Given the description of an element on the screen output the (x, y) to click on. 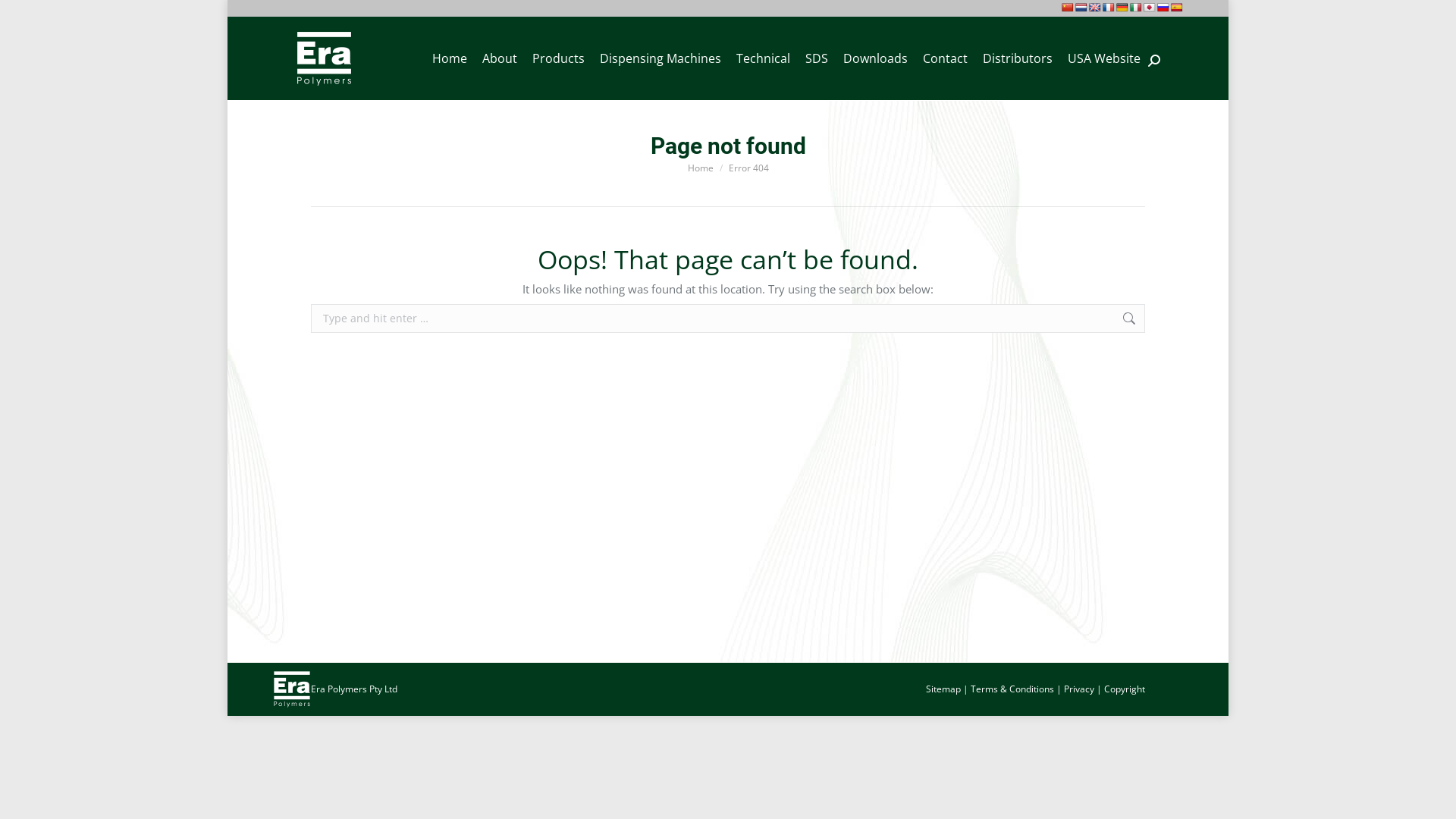
Home Element type: text (449, 58)
Chinese (Simplified) Element type: hover (1067, 7)
Go! Element type: text (1168, 320)
Products Element type: text (558, 58)
French Element type: hover (1108, 7)
Distributors Element type: text (1017, 58)
SDS Element type: text (816, 58)
Privacy Element type: text (1078, 688)
Technical Element type: text (762, 58)
USA Website Element type: text (1104, 58)
Home Element type: text (699, 166)
Copyright Element type: text (1124, 688)
Downloads Element type: text (875, 58)
About Element type: text (499, 58)
German Element type: hover (1122, 7)
Sitemap Element type: text (942, 688)
Go! Element type: text (23, 16)
Russian Element type: hover (1163, 7)
Contact Element type: text (945, 58)
Terms & Conditions Element type: text (1012, 688)
Spanish Element type: hover (1176, 7)
Dutch Element type: hover (1081, 7)
Dispensing Machines Element type: text (660, 58)
Italian Element type: hover (1135, 7)
Japanese Element type: hover (1149, 7)
English Element type: hover (1094, 7)
